Given the description of an element on the screen output the (x, y) to click on. 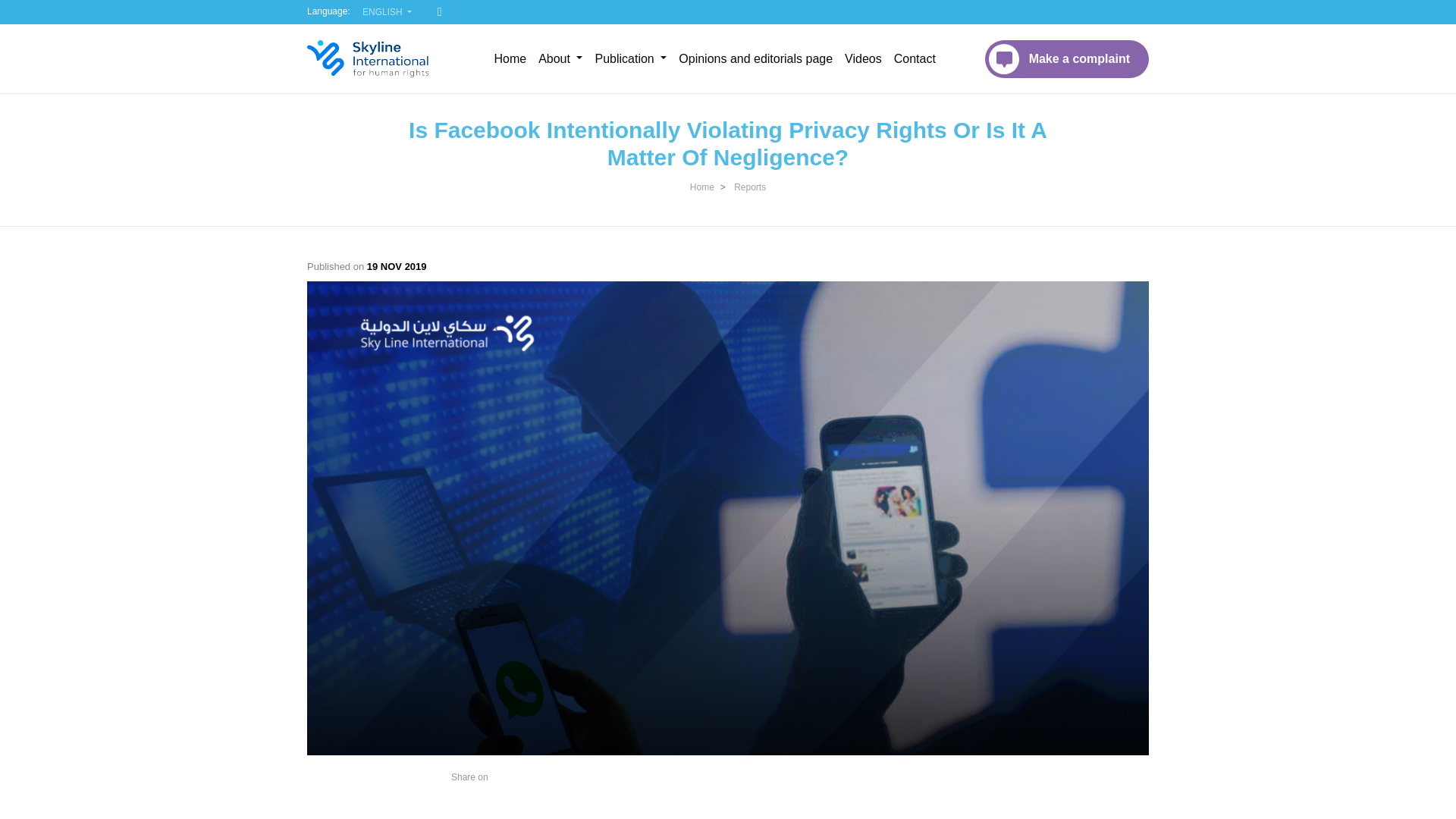
Opinions and editorials page (755, 59)
Videos (863, 59)
Home (702, 186)
Make a complaint (1066, 57)
About (560, 59)
Reports (749, 186)
Home (509, 59)
Publication (630, 59)
Contact (915, 59)
Make a complaint (1066, 57)
ENGLISH (387, 12)
